Given the description of an element on the screen output the (x, y) to click on. 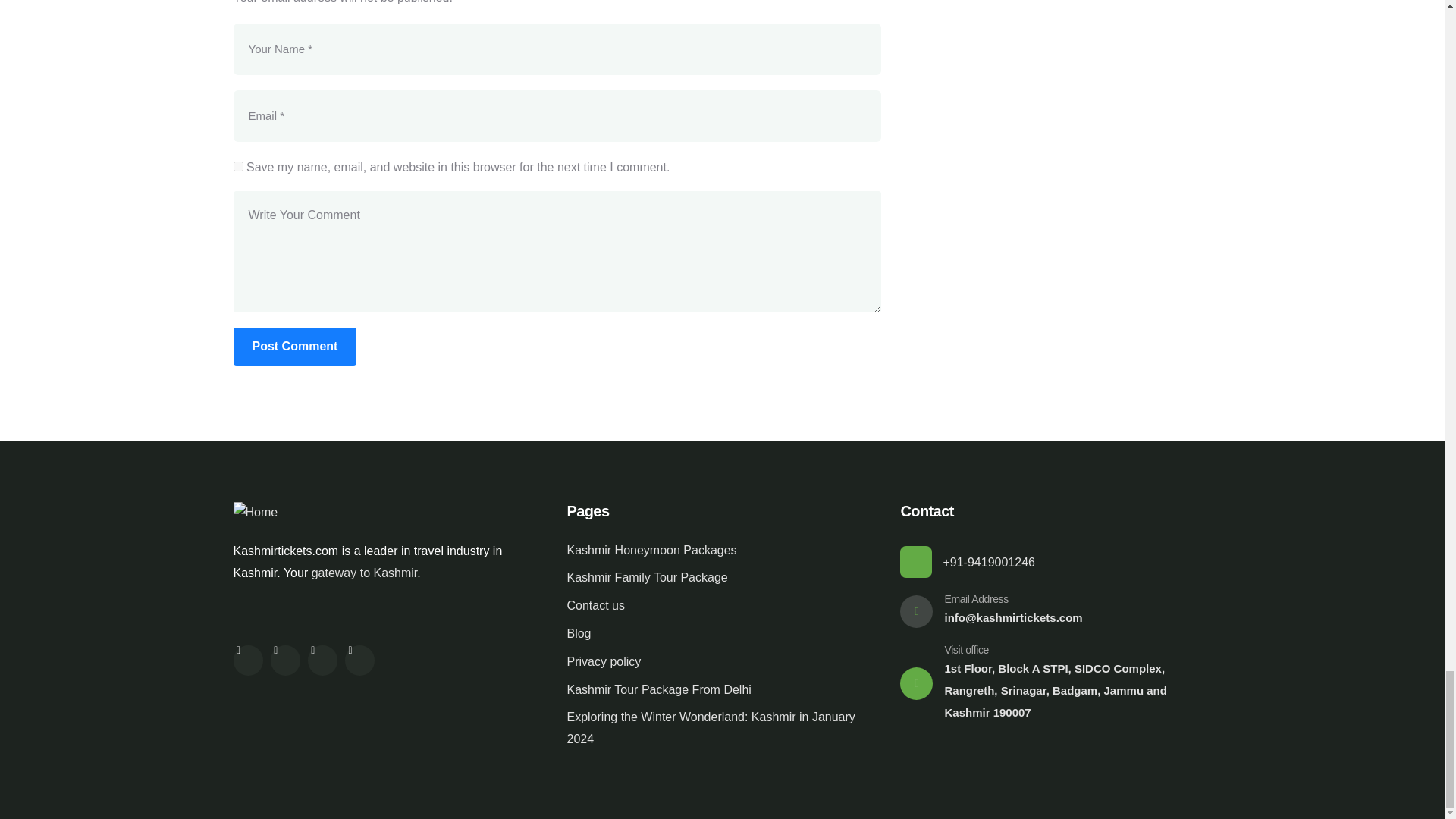
yes (237, 166)
Post Comment (294, 346)
Home (255, 513)
